Given the description of an element on the screen output the (x, y) to click on. 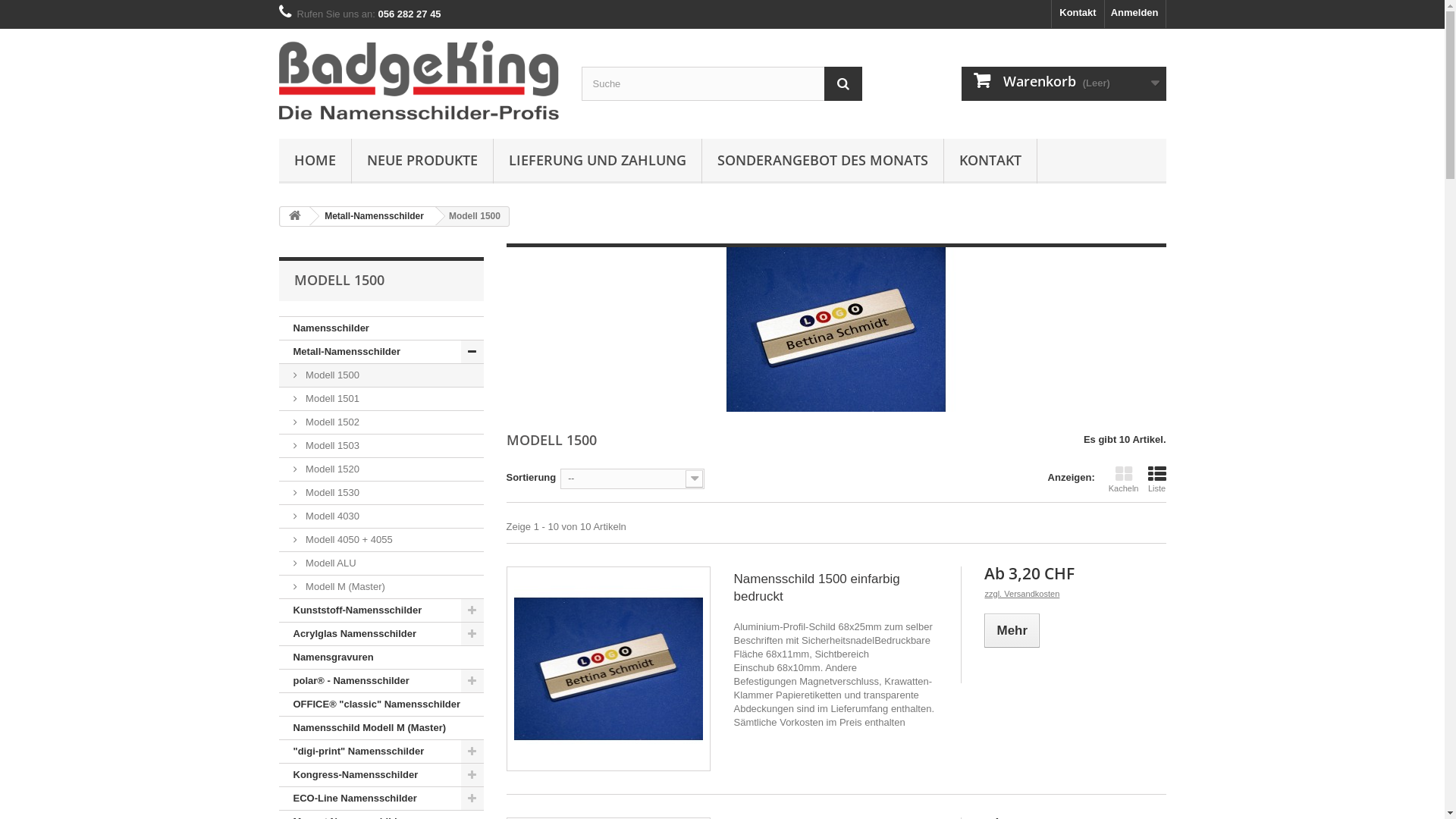
Namensschild 1500 einfarbig bedruckt Element type: text (835, 587)
Liste Element type: text (1157, 478)
Modell 4030 Element type: text (381, 516)
Modell 1530 Element type: text (381, 493)
Kontakt Element type: text (1077, 14)
Modell 1503 Element type: text (381, 446)
zzgl. Versandkosten Element type: text (1021, 593)
KONTAKT Element type: text (989, 160)
Namensschild Modell M (Master) Element type: text (381, 728)
Modell 1501 Element type: text (381, 399)
"digi-print" Namensschilder Element type: text (381, 751)
Modell ALU Element type: text (381, 563)
Namensgravuren Element type: text (381, 657)
Kacheln Element type: text (1123, 478)
Modell 1520 Element type: text (381, 469)
Namensschild 1500 einfarbig bedruckt Element type: hover (608, 668)
SONDERANGEBOT DES MONATS Element type: text (822, 160)
Modell M (Master) Element type: text (381, 587)
Kongress-Namensschilder Element type: text (381, 775)
Kunststoff-Namensschilder Element type: text (381, 610)
NEUE PRODUKTE Element type: text (421, 160)
Metall-Namensschilder Element type: text (381, 352)
Anmelden Element type: text (1134, 14)
Modell 4050 + 4055 Element type: text (381, 540)
ECO-Line Namensschilder Element type: text (381, 798)
Modell 1502 Element type: text (381, 422)
Metall-Namensschilder Element type: text (371, 216)
Modell 1500 Element type: text (381, 375)
Warenkorb (Leer) Element type: text (1063, 83)
LIEFERUNG UND ZAHLUNG Element type: text (596, 160)
HOME Element type: text (315, 160)
Namensschilder Element type: text (381, 328)
Mehr Element type: text (1011, 630)
Badgeking GmbH Element type: hover (419, 79)
Acrylglas Namensschilder Element type: text (381, 634)
